Given the description of an element on the screen output the (x, y) to click on. 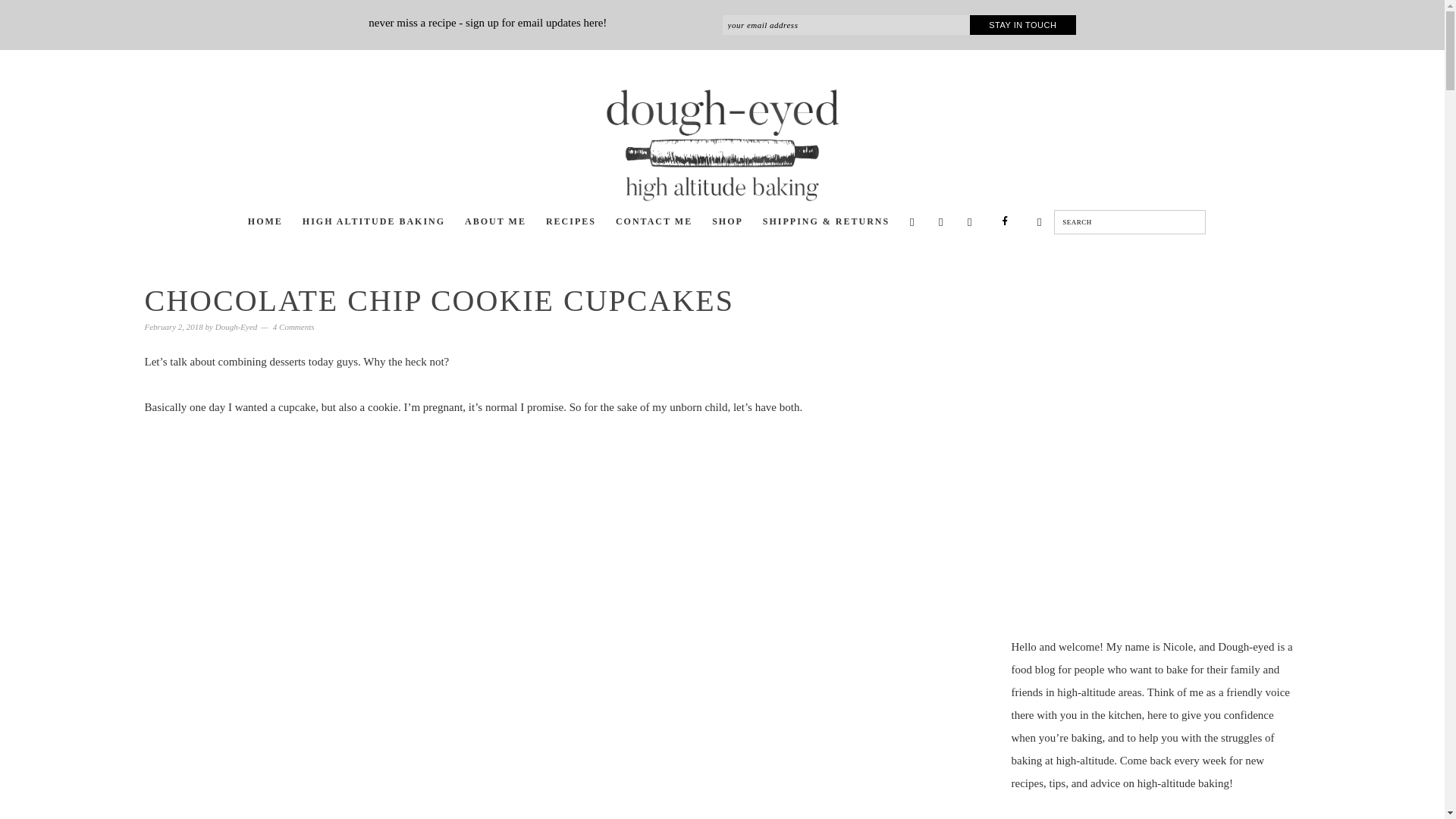
Instagram (940, 221)
Facebook (1005, 222)
Dough-Eyed (236, 326)
RECIPES (571, 222)
HIGH ALTITUDE BAKING (374, 222)
Twitter (911, 221)
ABOUT ME (495, 222)
